Given the description of an element on the screen output the (x, y) to click on. 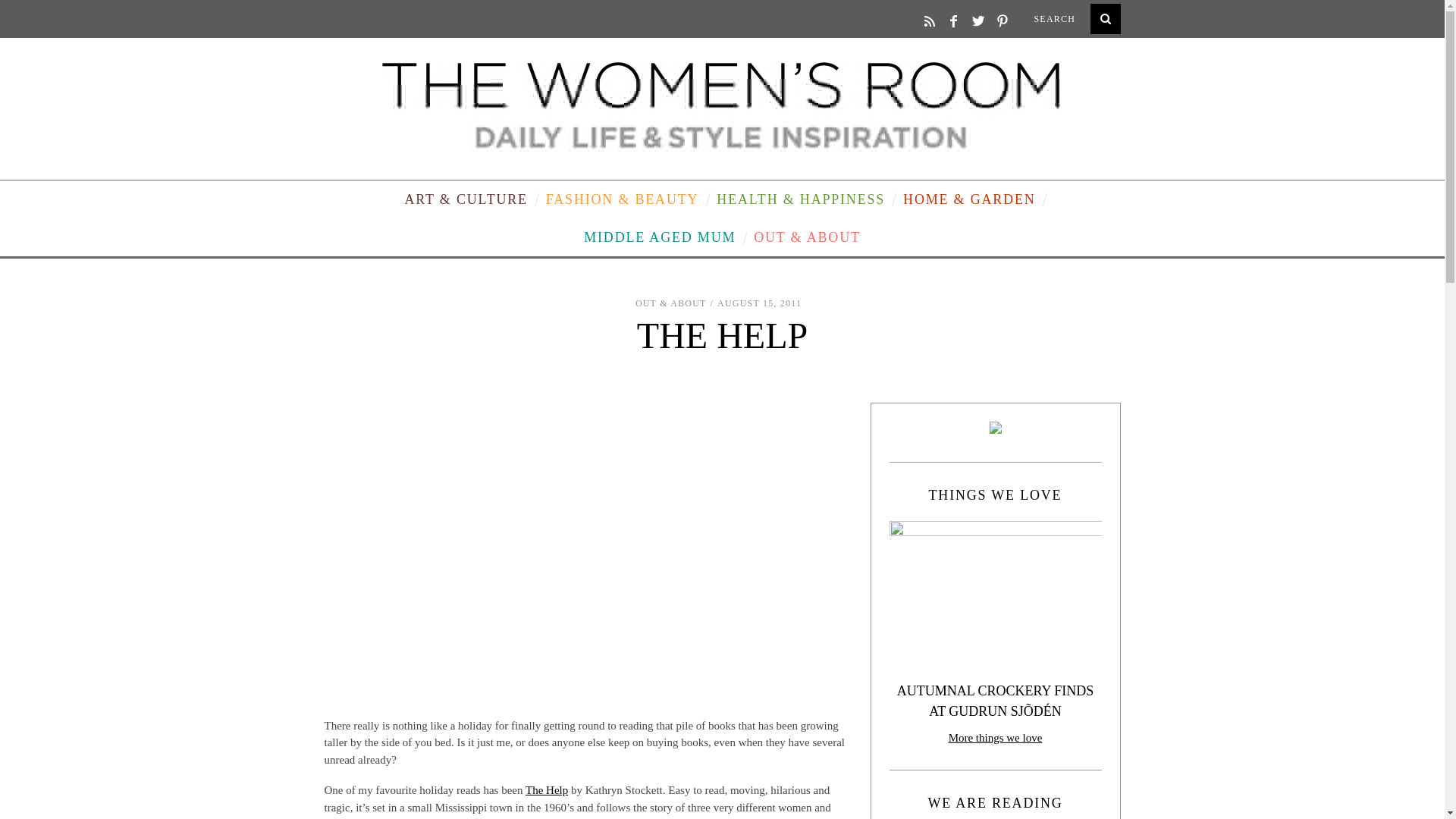
Search (1071, 18)
MIDDLE AGED MUM (659, 237)
